Given the description of an element on the screen output the (x, y) to click on. 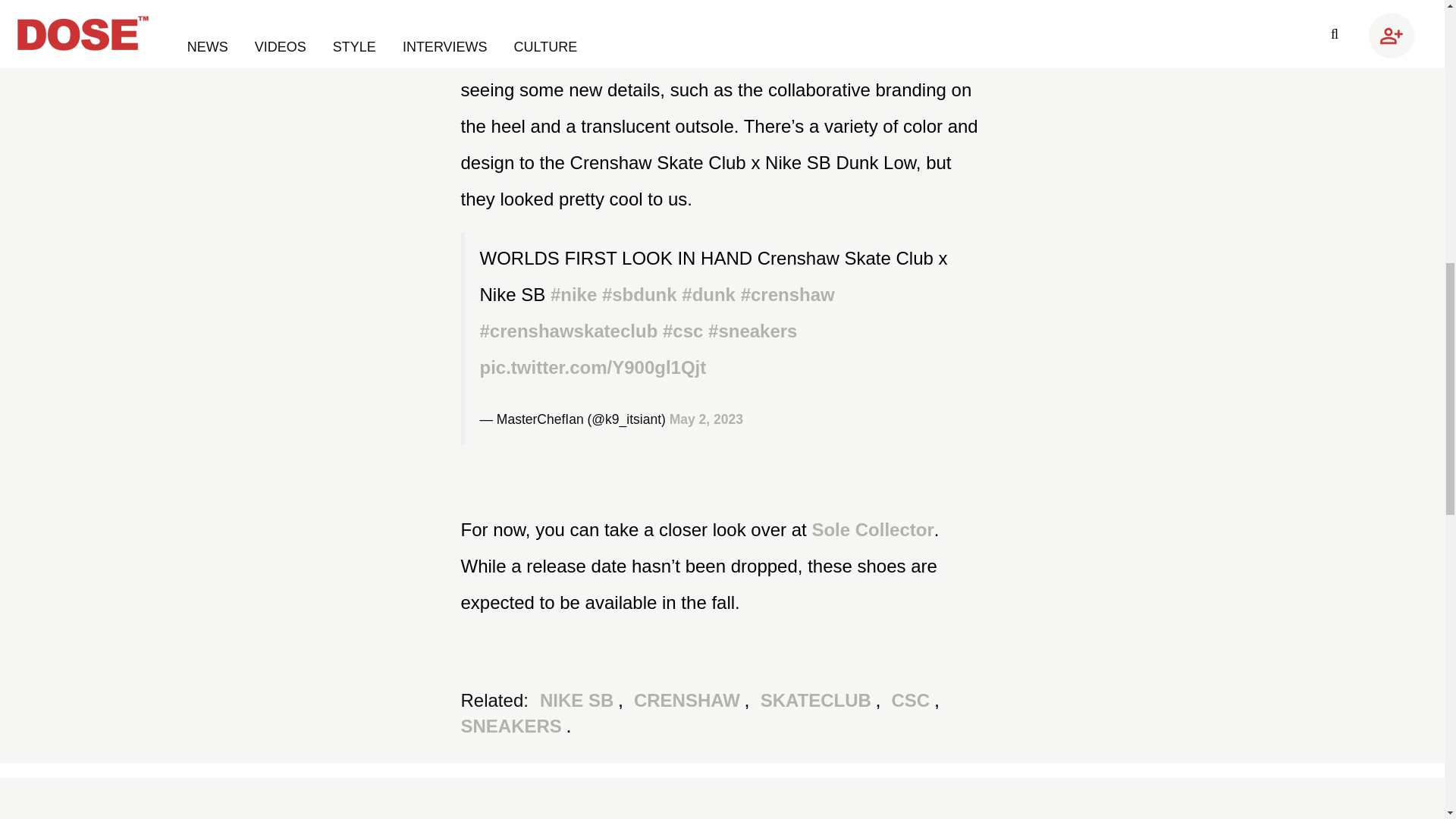
CRENSHAW (689, 700)
Sole Collector (871, 529)
May 2, 2023 (705, 418)
SKATECLUB (818, 700)
NIKE SB (579, 700)
CSC (912, 700)
Advertisement (1128, 51)
SNEAKERS (514, 725)
